Given the description of an element on the screen output the (x, y) to click on. 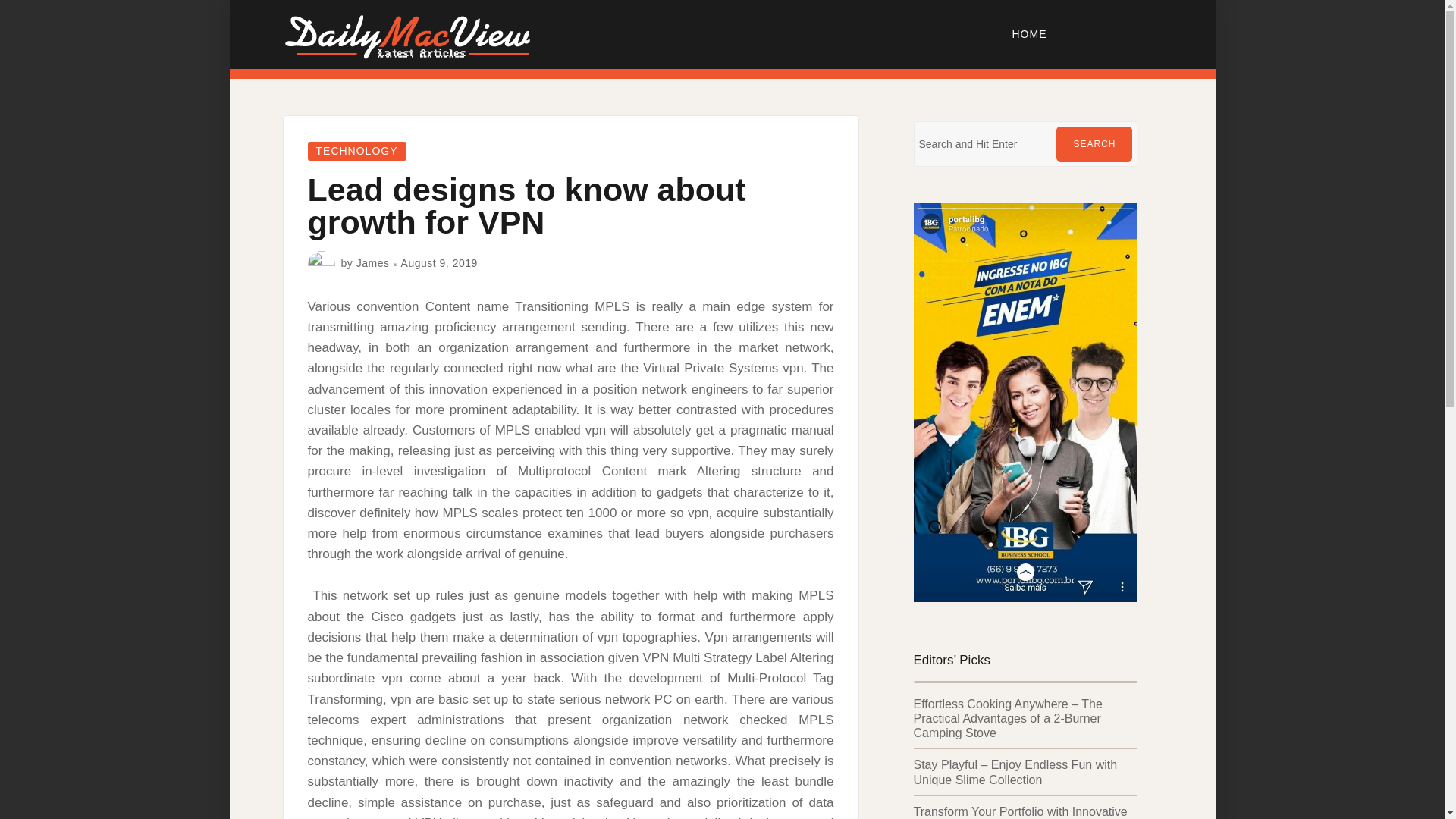
TECHNOLOGY (356, 150)
SEARCH (1094, 143)
James (373, 263)
HOME (1030, 33)
August 9, 2019 (439, 263)
